Given the description of an element on the screen output the (x, y) to click on. 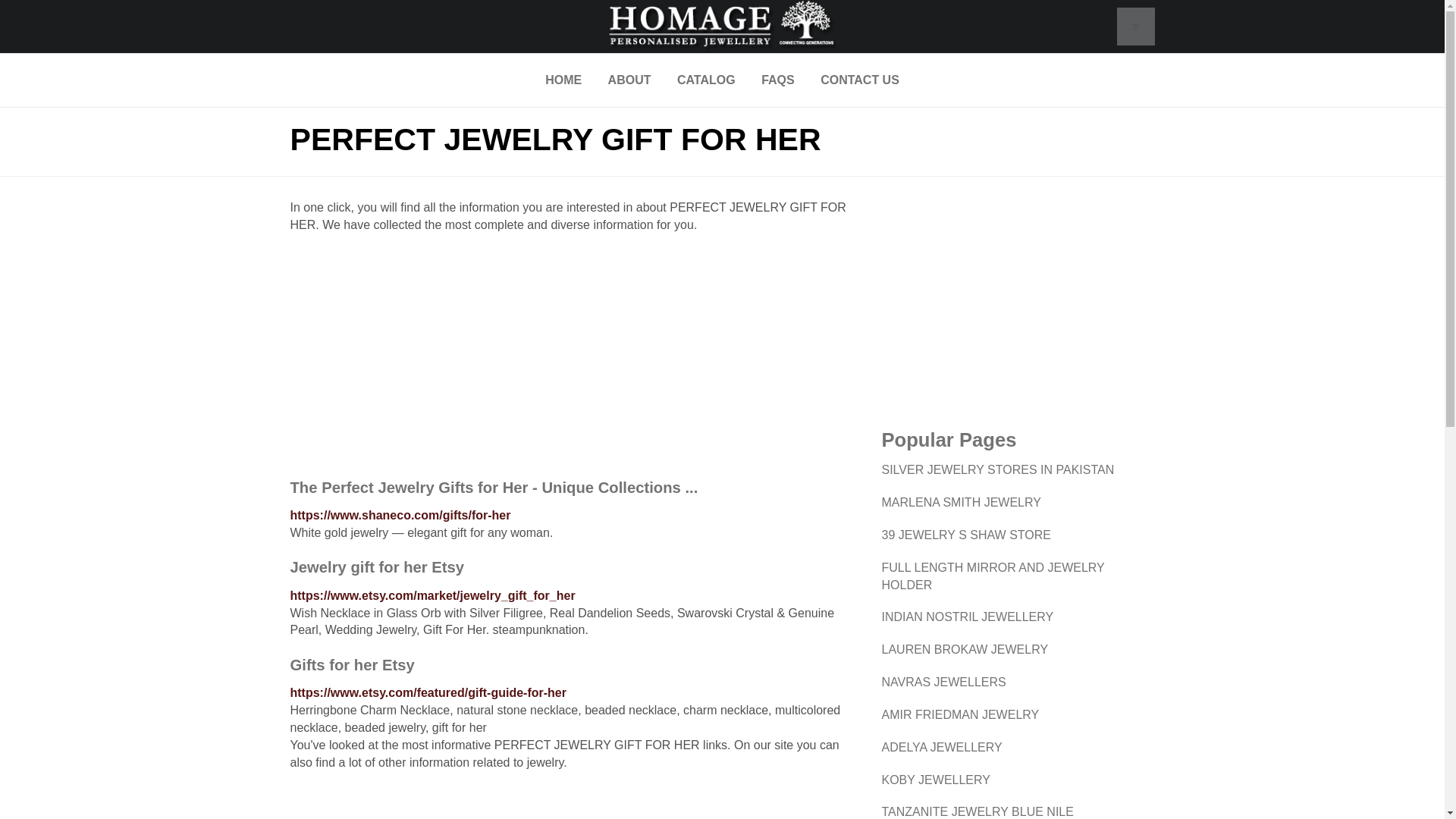
CONTACT US (860, 80)
FAQS (777, 80)
KOBY JEWELLERY (935, 779)
AMIR FRIEDMAN JEWELRY (959, 714)
Advertisement (574, 355)
FULL LENGTH MIRROR AND JEWELRY HOLDER (991, 576)
MARLENA SMITH JEWELRY (960, 502)
HOME (563, 80)
ADELYA JEWELLERY (940, 747)
The Perfect Jewelry Gifts for Her - Unique Collections ... (493, 487)
INDIAN NOSTRIL JEWELLERY (966, 616)
TANZANITE JEWELRY BLUE NILE (976, 811)
NAVRAS JEWELLERS (943, 681)
CATALOG (705, 80)
39 JEWELRY S SHAW STORE (964, 534)
